Given the description of an element on the screen output the (x, y) to click on. 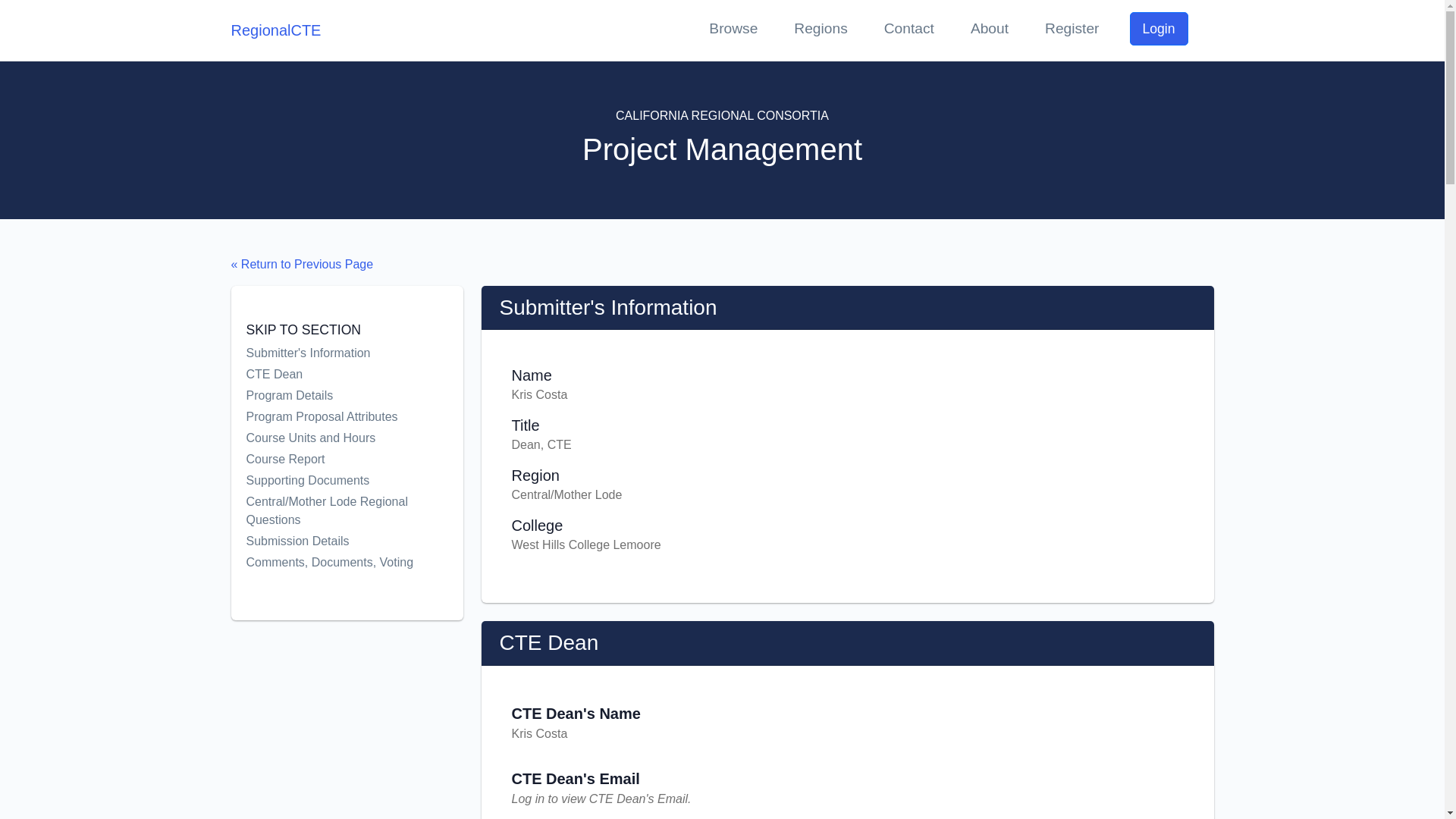
Comments, Documents, Voting (331, 562)
Submission Details (331, 541)
Course Report (331, 459)
Program Proposal Attributes (331, 416)
Regions (820, 30)
Supporting Documents (331, 480)
Program Details (331, 395)
About (988, 30)
RegionalCTE (275, 30)
Browse (732, 30)
CTE Dean (331, 374)
Course Units and Hours (331, 438)
Contact (908, 30)
Register (1072, 30)
Login (1158, 28)
